Given the description of an element on the screen output the (x, y) to click on. 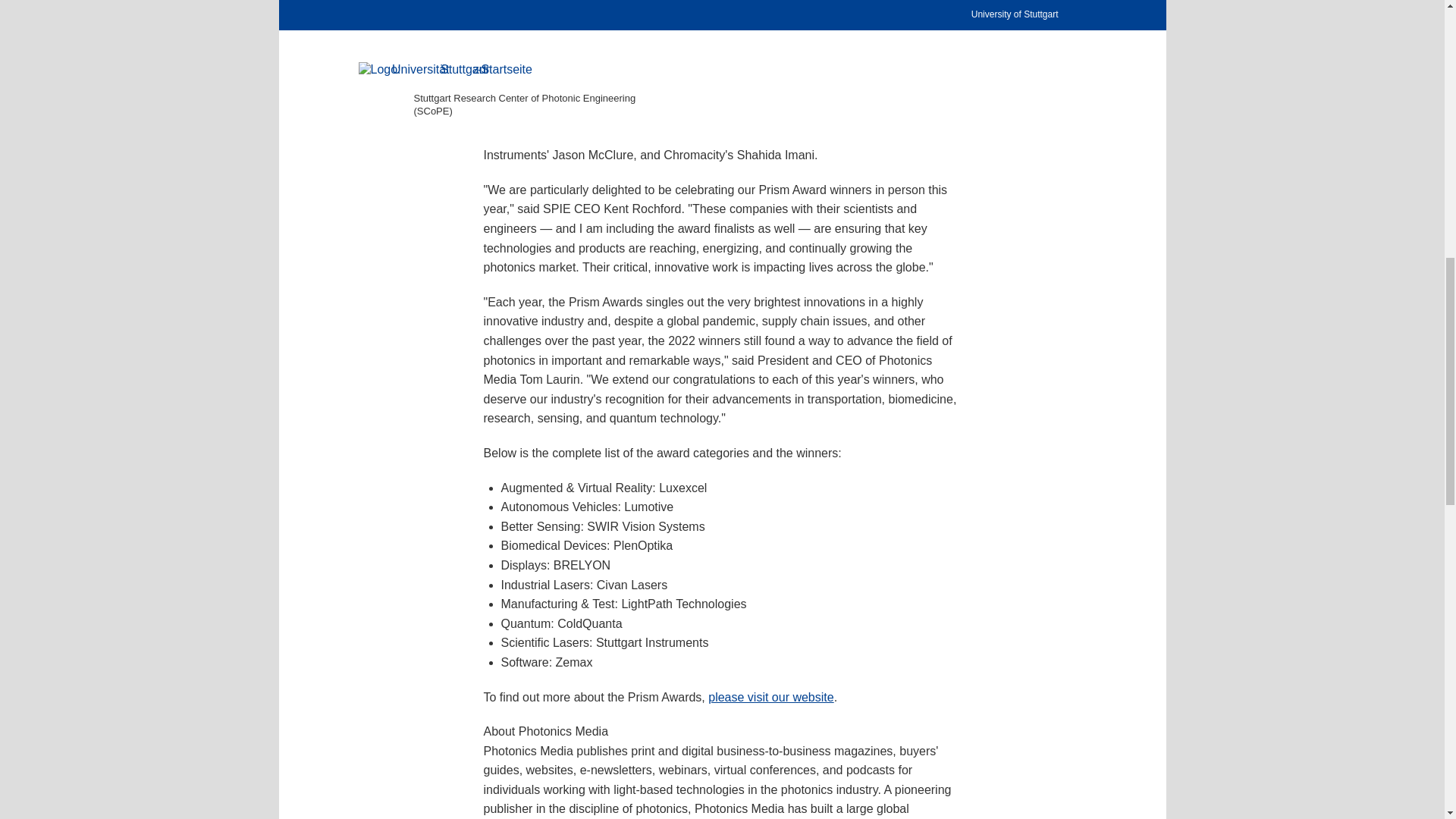
please visit our website (769, 696)
To the top of the page (1135, 30)
To the top of the page (1135, 38)
